Given the description of an element on the screen output the (x, y) to click on. 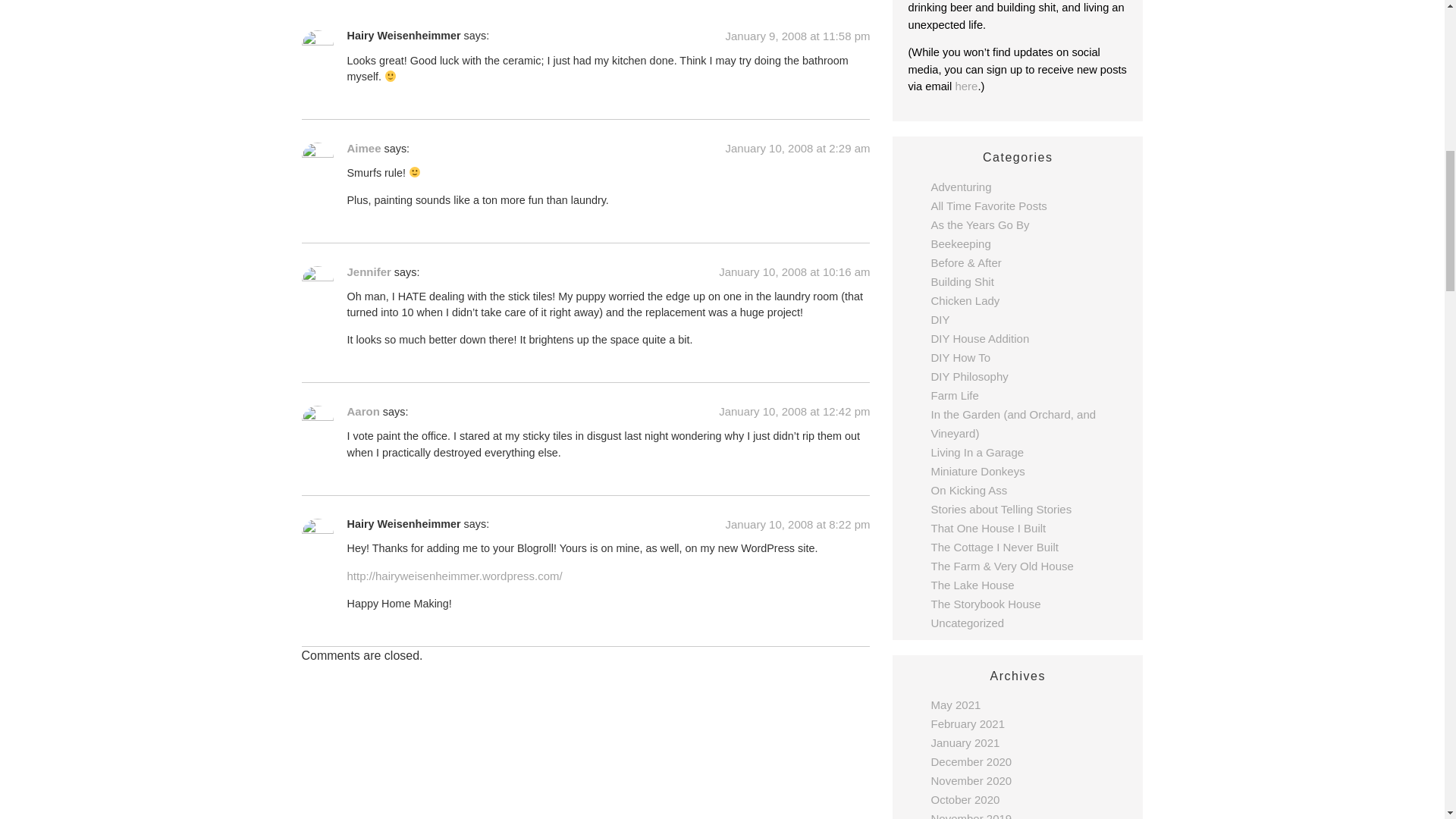
Adventuring (960, 186)
DIY Philosophy (968, 376)
January 10, 2008 at 8:22 pm (797, 523)
here (965, 85)
Jennifer (369, 271)
January 9, 2008 at 11:58 pm (797, 35)
DIY (939, 318)
Building Shit (961, 281)
Beekeeping (960, 243)
January 10, 2008 at 12:42 pm (794, 410)
January 10, 2008 at 10:16 am (794, 271)
DIY House Addition (979, 338)
As the Years Go By (979, 224)
Aaron (363, 410)
All Time Favorite Posts (988, 205)
